Given the description of an element on the screen output the (x, y) to click on. 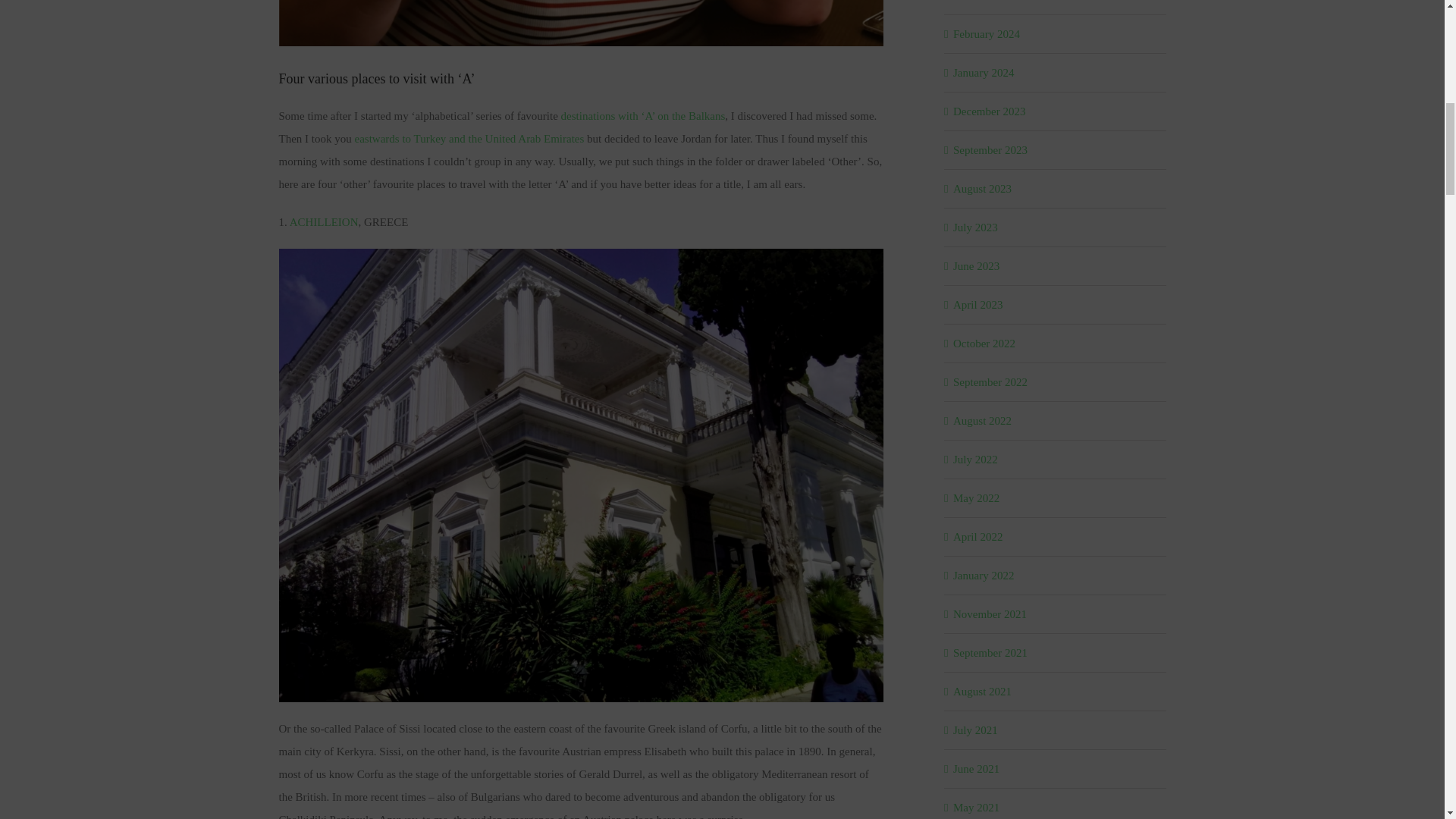
eastwards to Turkey and the United Arab Emirates (468, 138)
ACHILLEION (323, 222)
View Larger Image (581, 22)
